Given the description of an element on the screen output the (x, y) to click on. 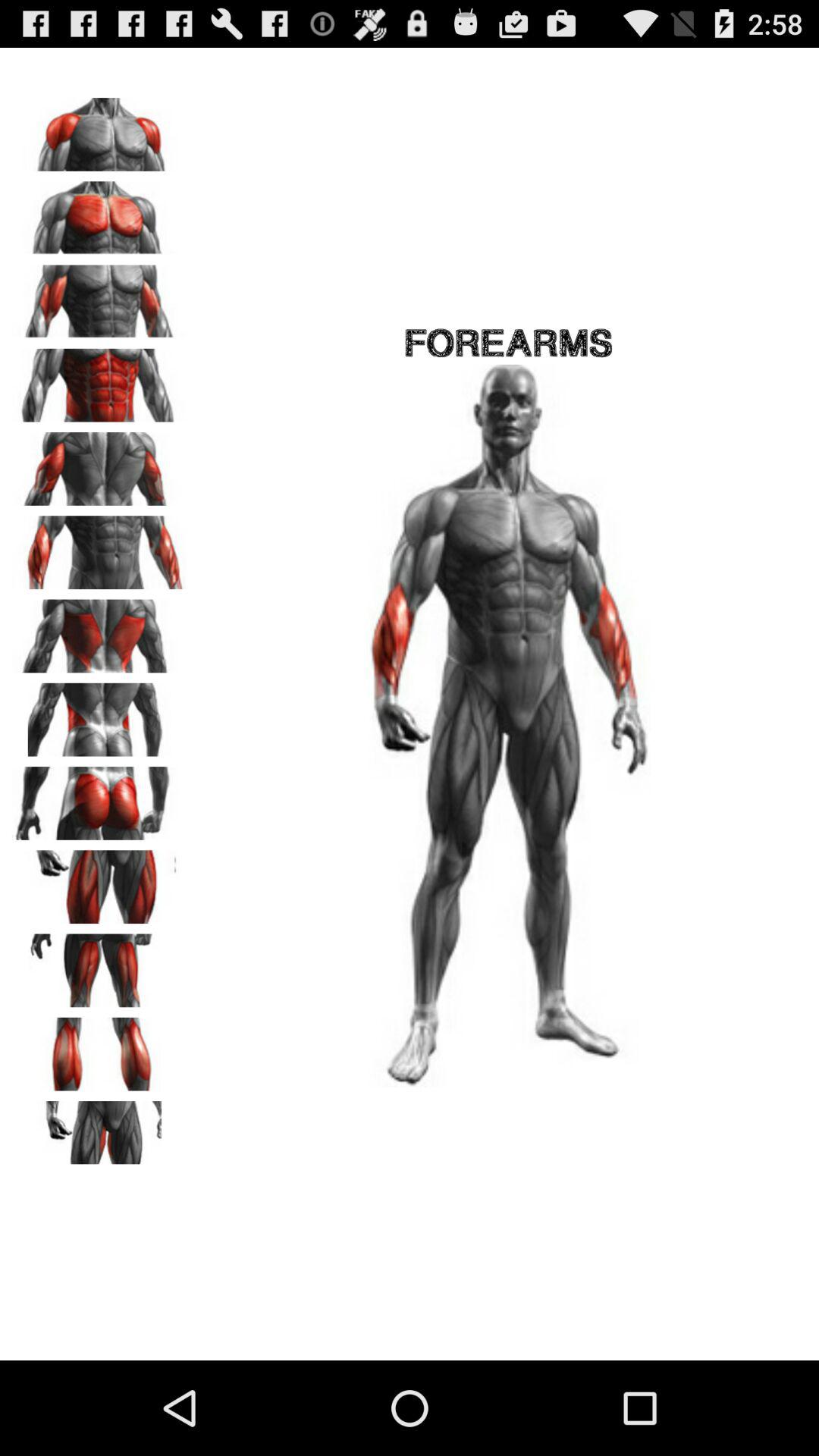
zoom in on area (99, 1048)
